Given the description of an element on the screen output the (x, y) to click on. 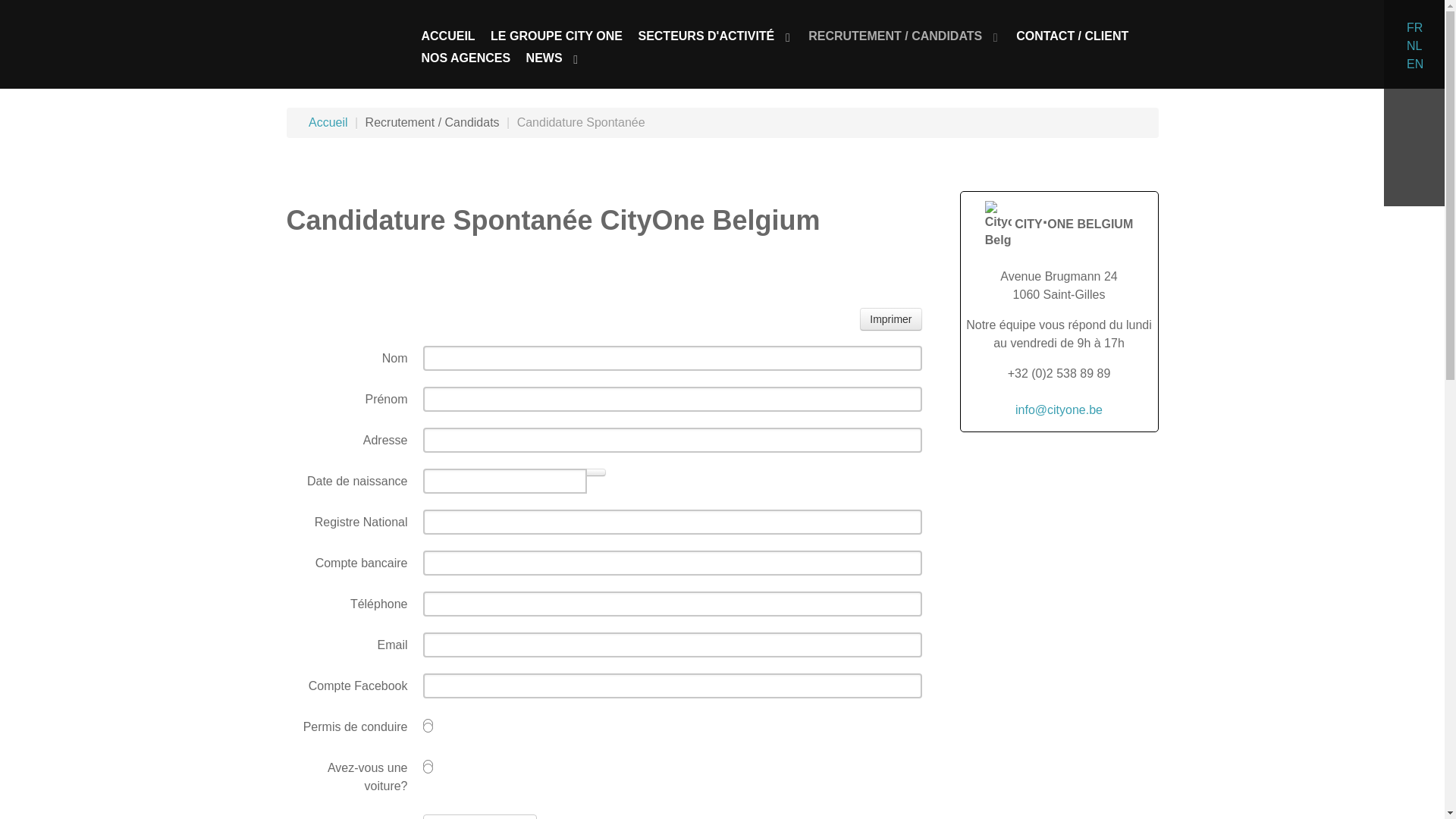
EN Element type: text (1414, 63)
CONTACT / CLIENT Element type: text (1072, 36)
ACCUEIL Element type: text (448, 36)
NOS AGENCES Element type: text (466, 58)
LE GROUPE CITY ONE Element type: text (556, 36)
FR Element type: text (1414, 27)
Imprimer Element type: text (890, 318)
NL Element type: text (1413, 45)
info@cityone.be Element type: text (1058, 409)
Accueil Element type: text (328, 122)
